Given the description of an element on the screen output the (x, y) to click on. 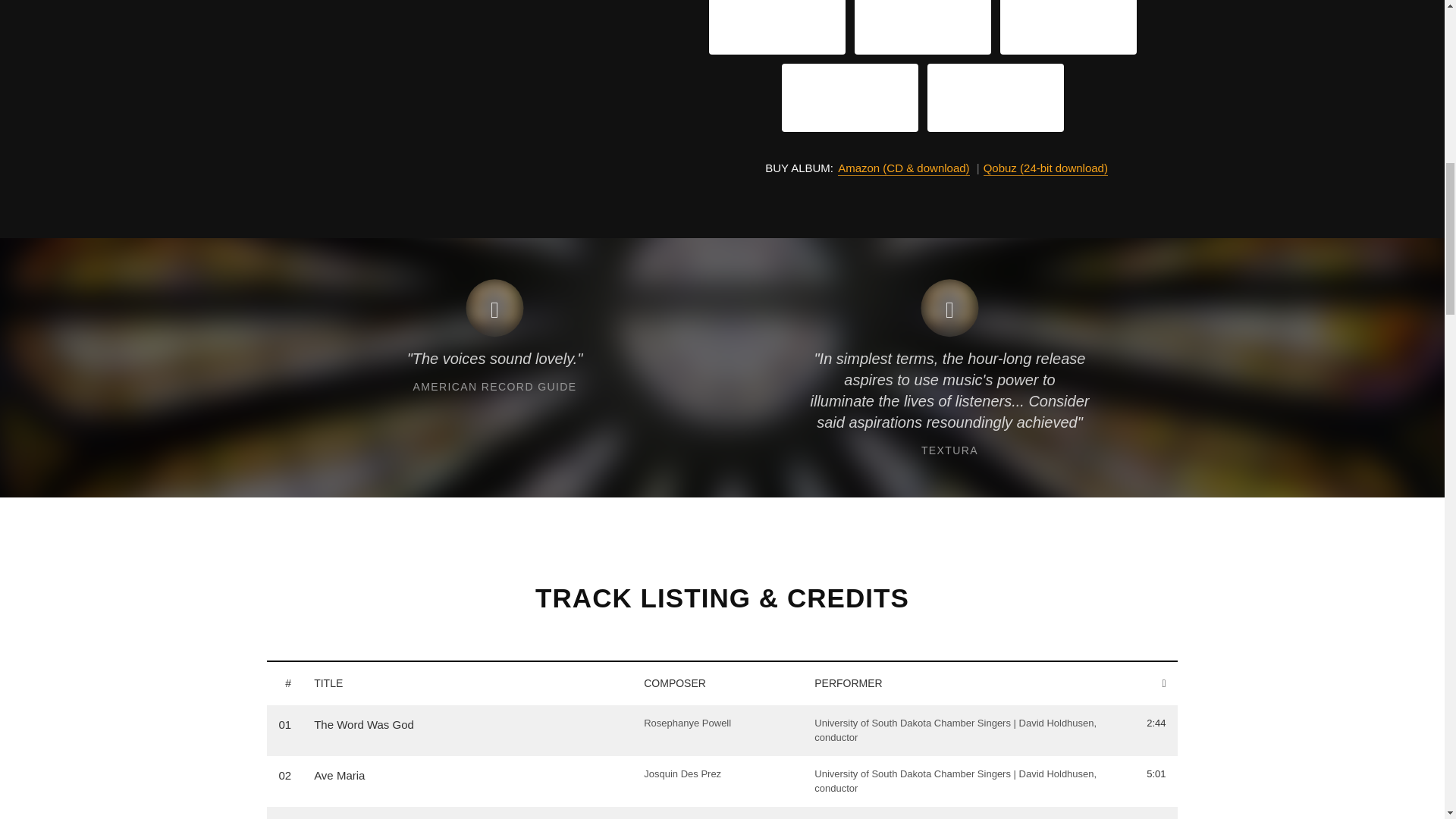
deezer (995, 97)
amazon-digital (1068, 26)
apple (777, 26)
youtube (849, 97)
spotify (922, 26)
